Given the description of an element on the screen output the (x, y) to click on. 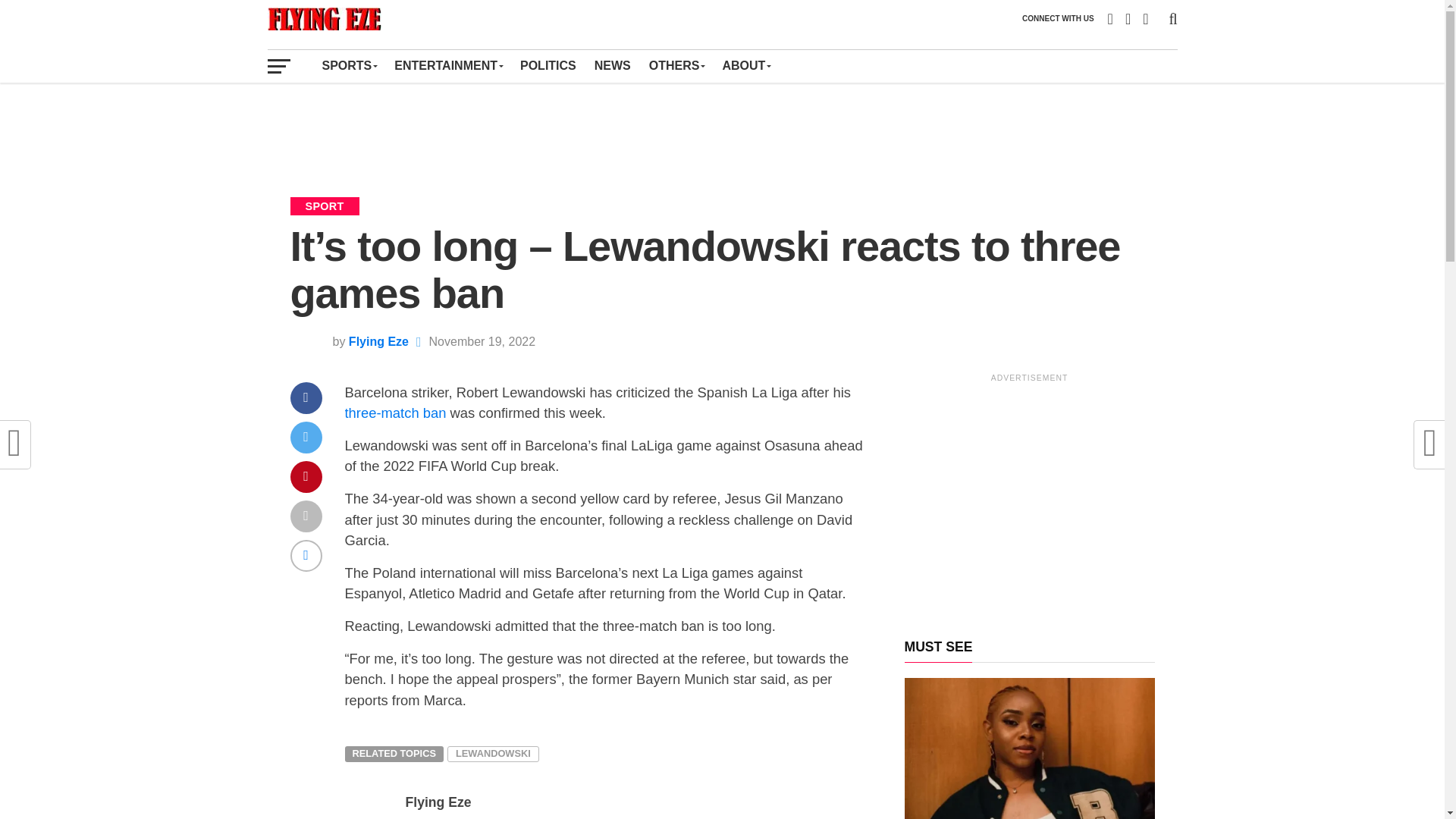
Posts by Flying Eze (437, 801)
SPORTS (349, 65)
POLITICS (548, 65)
Posts by Flying Eze (379, 341)
NEWS (612, 65)
ABOUT (745, 65)
OTHERS (676, 65)
ENTERTAINMENT (448, 65)
